Given the description of an element on the screen output the (x, y) to click on. 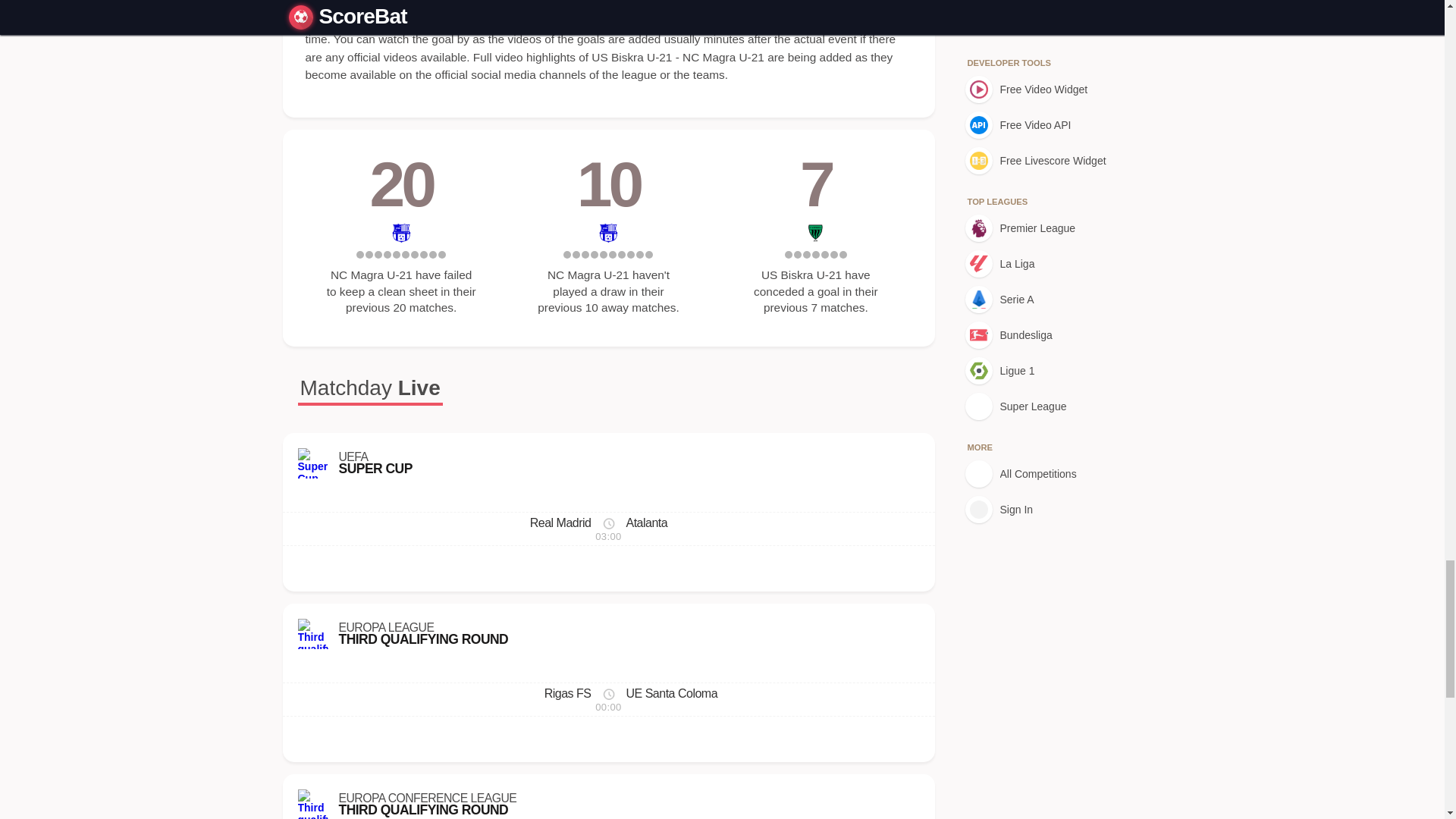
Real Madrid - Atalanta Live (608, 528)
Rigas FS - UE Santa Coloma Live (608, 699)
